Given the description of an element on the screen output the (x, y) to click on. 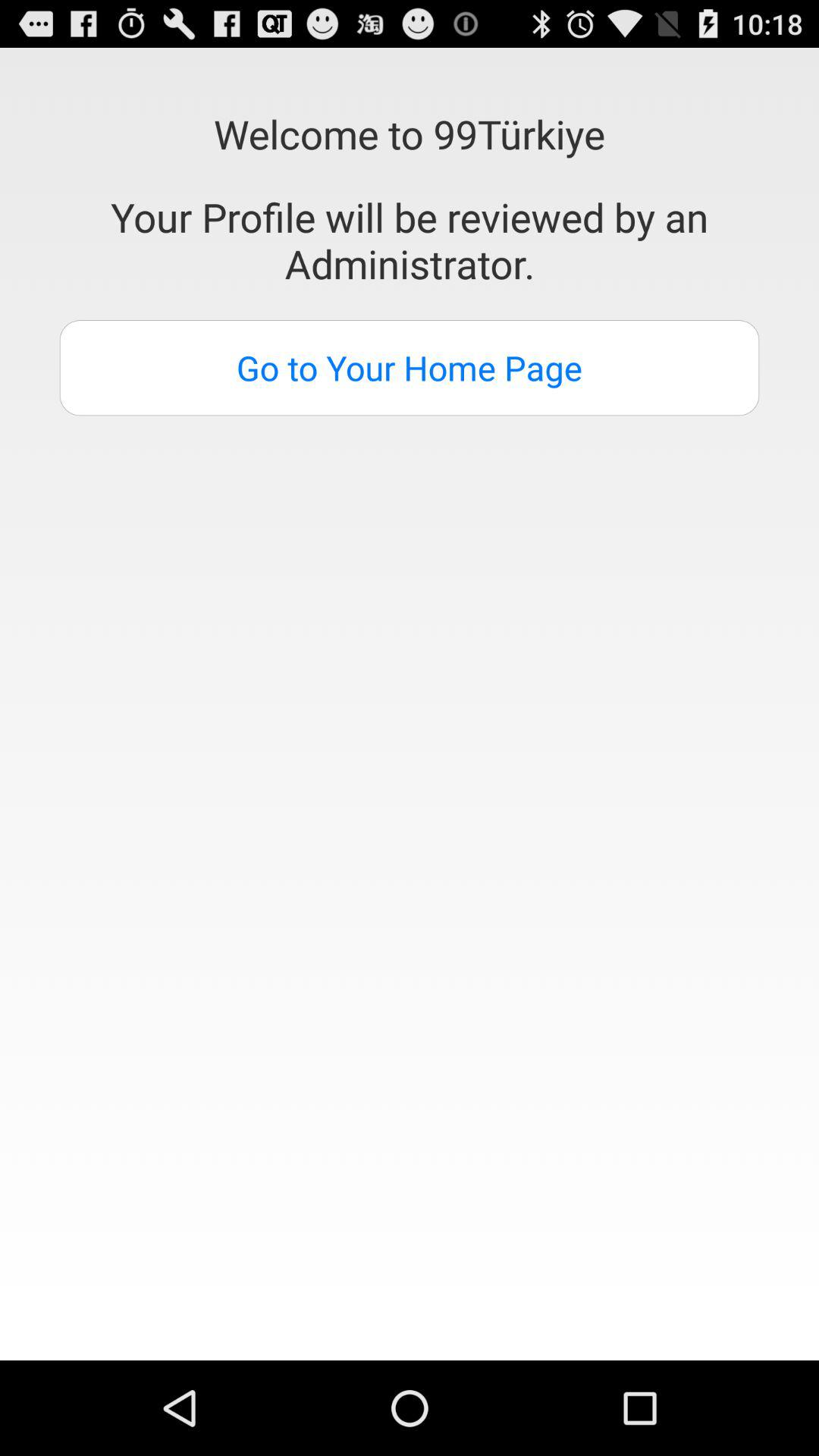
launch the go to your button (409, 367)
